Given the description of an element on the screen output the (x, y) to click on. 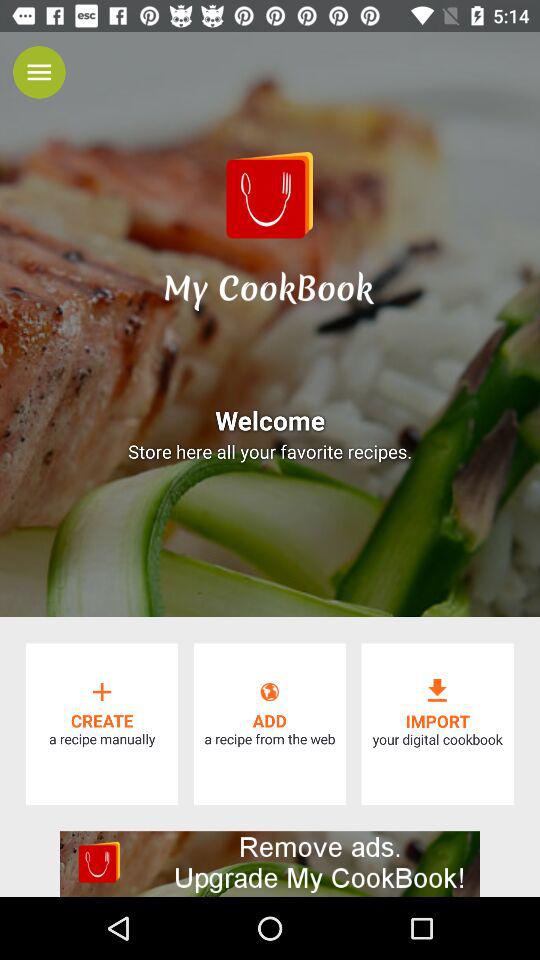
open advertisement (270, 864)
